Given the description of an element on the screen output the (x, y) to click on. 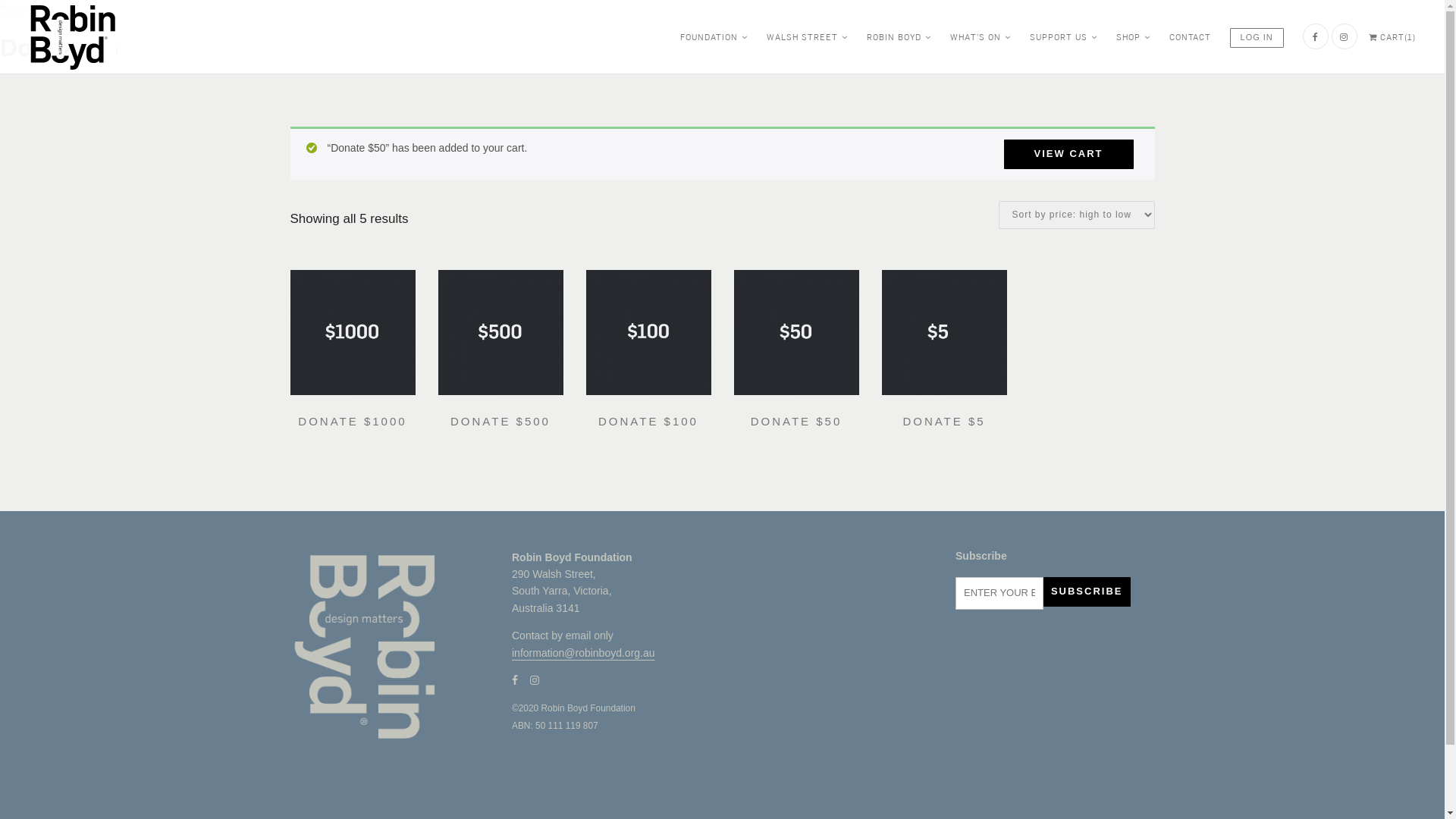
VIEW CART Element type: text (1068, 154)
FOUNDATION Element type: text (713, 36)
WALSH STREET Element type: text (806, 36)
DONATE $5 Element type: text (943, 420)
CONTACT Element type: text (1190, 36)
Subscribe Element type: text (1086, 591)
Home Element type: text (12, 6)
DONATE $100 Element type: text (648, 420)
Robin Boyd Foundation Element type: hover (72, 36)
DONATE $50 Element type: text (796, 420)
SUPPORT US Element type: text (1063, 36)
SHOP Element type: text (1133, 36)
ROBIN BOYD Element type: text (898, 36)
DONATE $1000 Element type: text (352, 420)
CART(1) Element type: text (1391, 36)
LOG IN Element type: text (1256, 36)
DONATE $500 Element type: text (500, 420)
information@robinboyd.org.au Element type: text (583, 652)
